Given the description of an element on the screen output the (x, y) to click on. 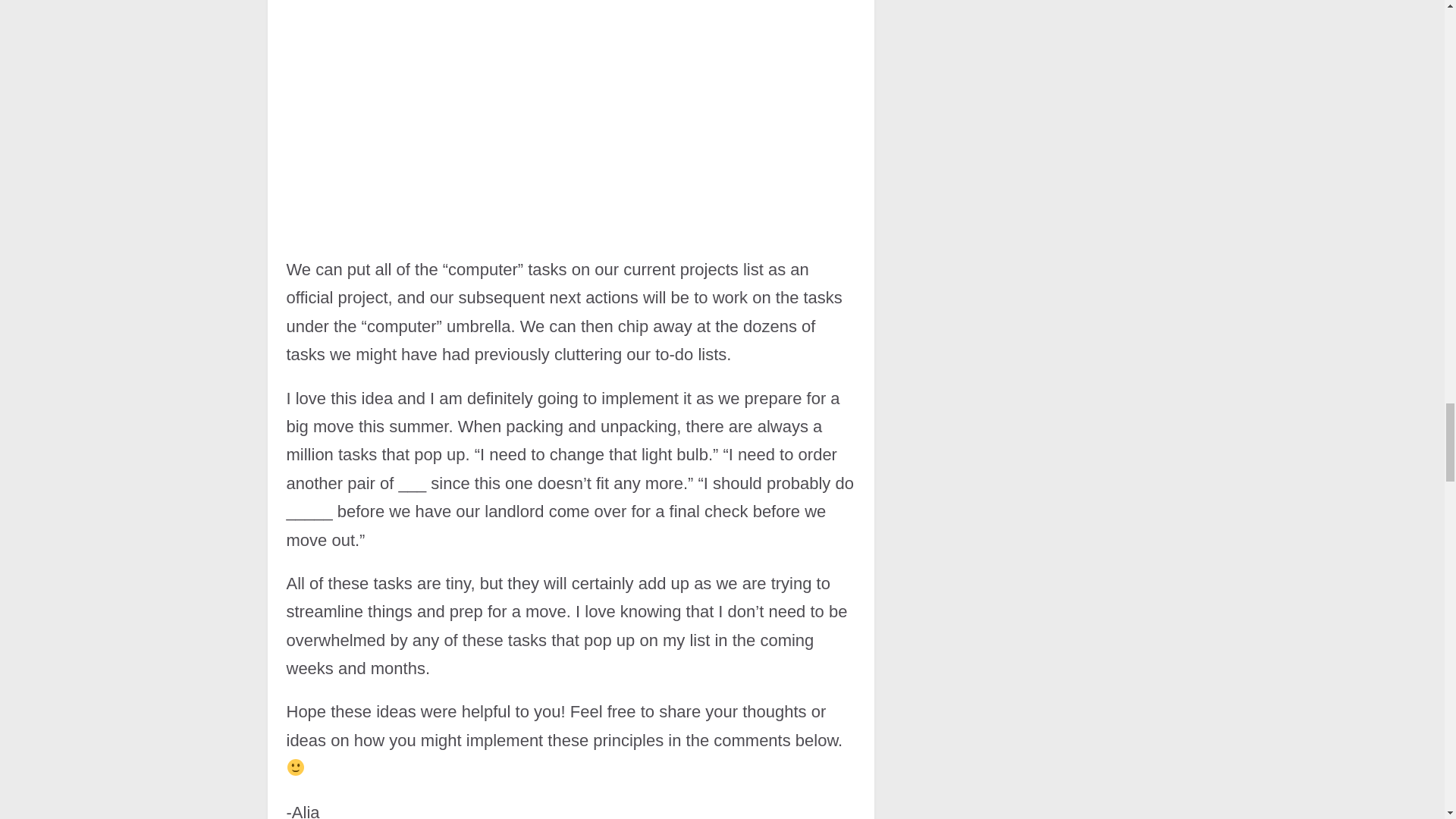
Screen Shot 2023-11-18 at 9.35.30 PM (571, 114)
